Given the description of an element on the screen output the (x, y) to click on. 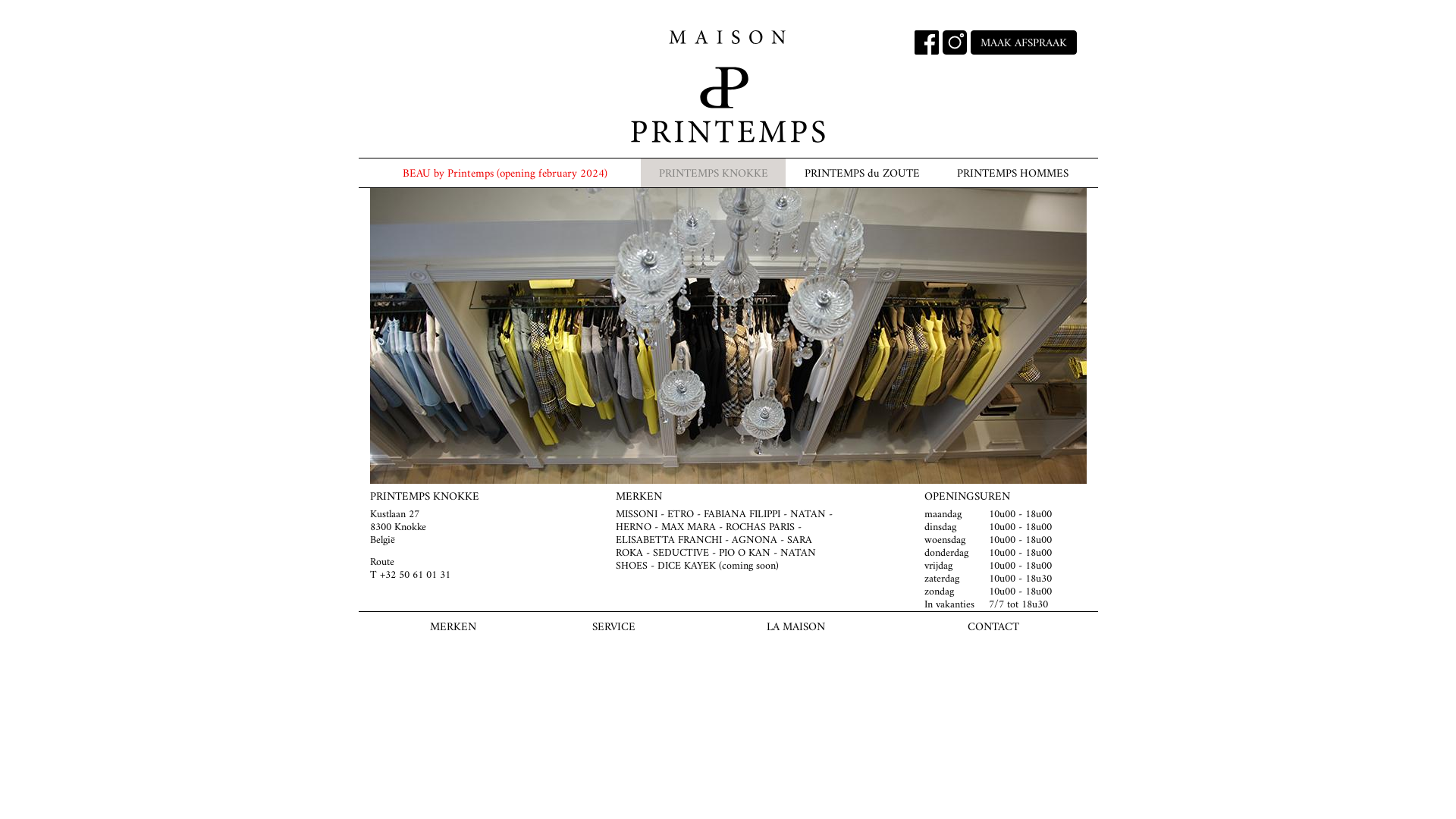
CONTACT Element type: text (992, 625)
LA MAISON Element type: text (795, 625)
Overslaan en naar de inhoud gaan Element type: text (0, 0)
BEAU by Printemps (opening february 2024) Element type: text (505, 172)
SERVICE Element type: text (613, 625)
MERKEN Element type: text (453, 625)
PRINTEMPS du ZOUTE Element type: text (861, 172)
PRINTEMPS KNOKKE Element type: text (712, 172)
PRINTEMPS HOMMES Element type: text (1012, 172)
Route Element type: text (382, 561)
MAAK AFSPRAAK Element type: text (1023, 42)
